Given the description of an element on the screen output the (x, y) to click on. 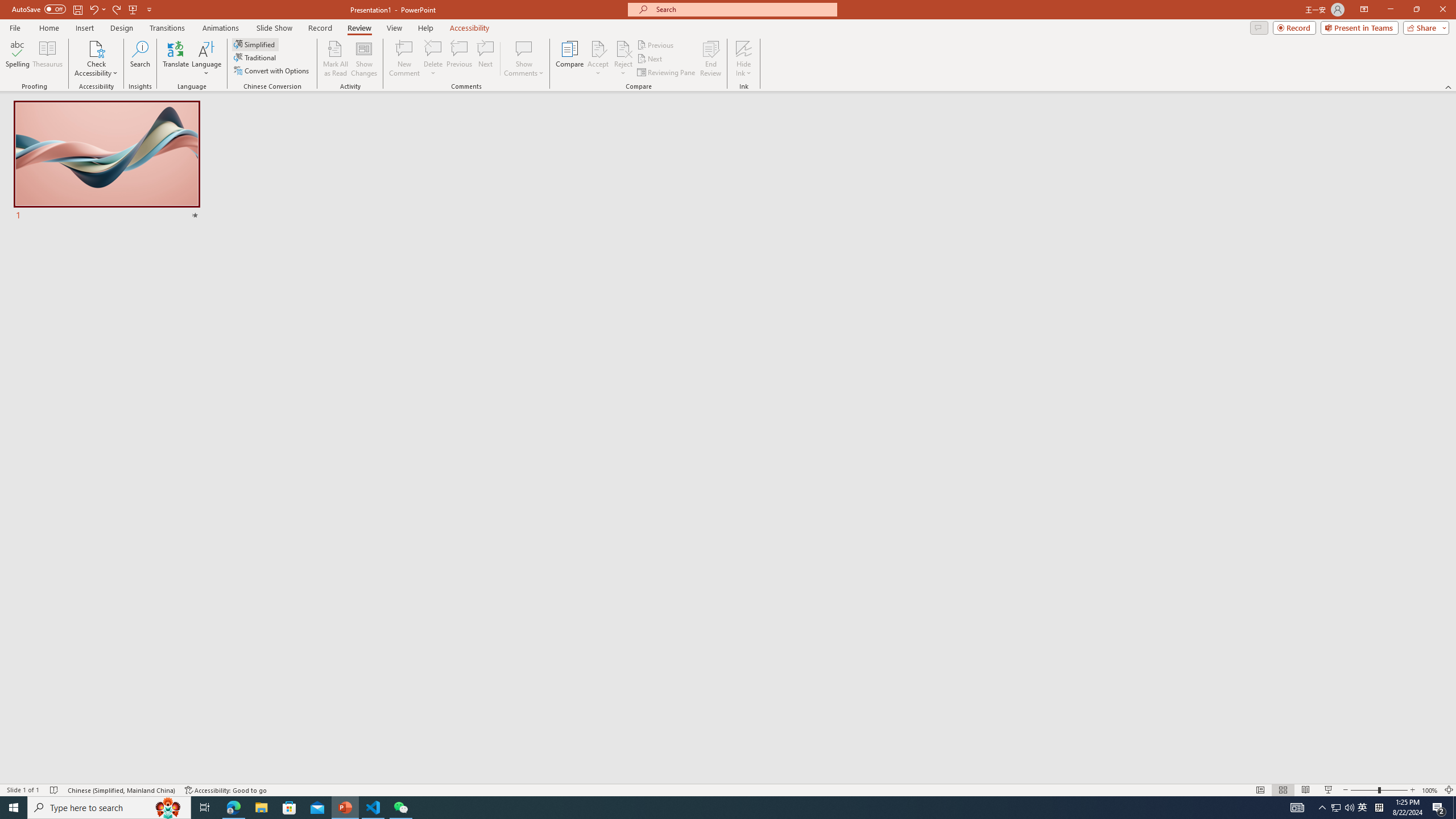
Translate (175, 58)
Home (48, 28)
Normal (1260, 790)
Spell Check No Errors (54, 790)
Slide Show (1328, 790)
Undo (96, 9)
Convert with Options... (272, 69)
Zoom 100% (1430, 790)
File Tab (15, 27)
Compare (569, 58)
Check Accessibility (95, 58)
Accept (598, 58)
AutoSave (38, 9)
Undo (92, 9)
Previous (655, 44)
